Given the description of an element on the screen output the (x, y) to click on. 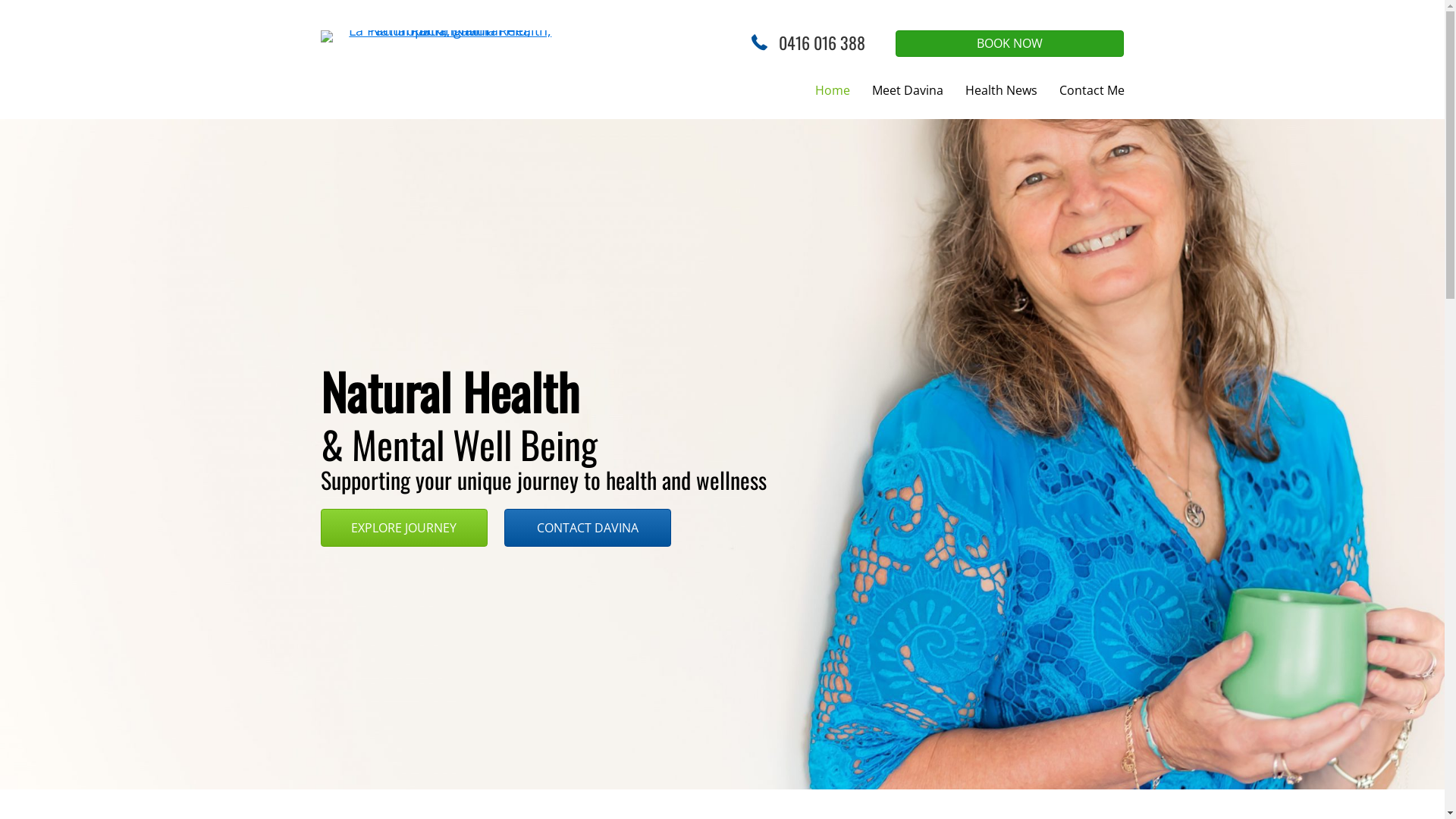
LA-pachamama Natural Health-01 - Copy Element type: hover (443, 36)
Health News Element type: text (1001, 89)
Home Element type: text (832, 89)
Skip to main content Element type: text (0, 0)
CONTACT DAVINA Element type: text (587, 527)
EXPLORE JOURNEY Element type: text (403, 527)
BOOK NOW Element type: text (1009, 43)
Meet Davina Element type: text (907, 89)
Contact Me Element type: text (1091, 89)
